Given the description of an element on the screen output the (x, y) to click on. 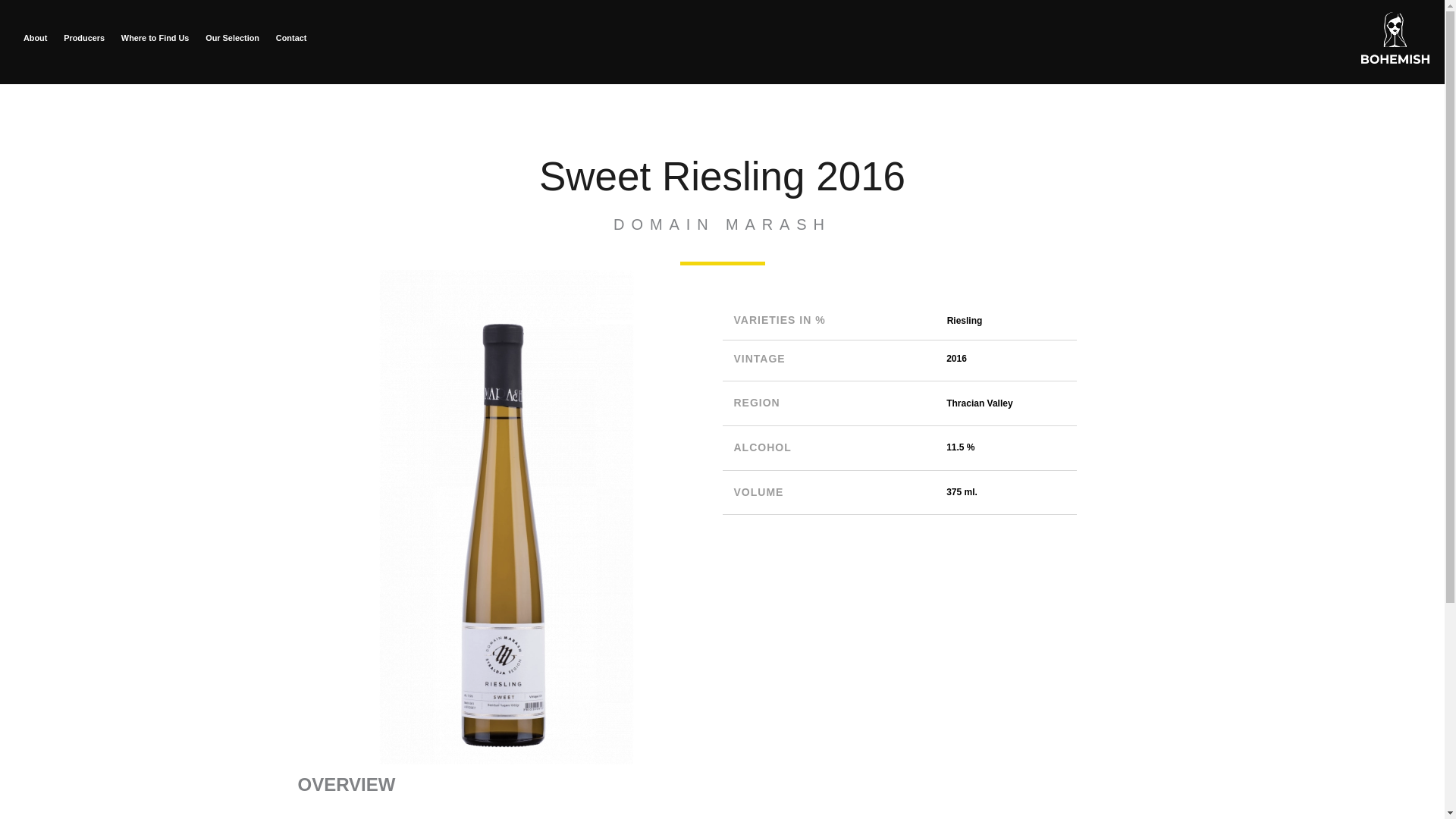
Contact (290, 37)
Our Selection (231, 37)
Where to Find Us (154, 37)
Producers (84, 37)
About (34, 37)
